Given the description of an element on the screen output the (x, y) to click on. 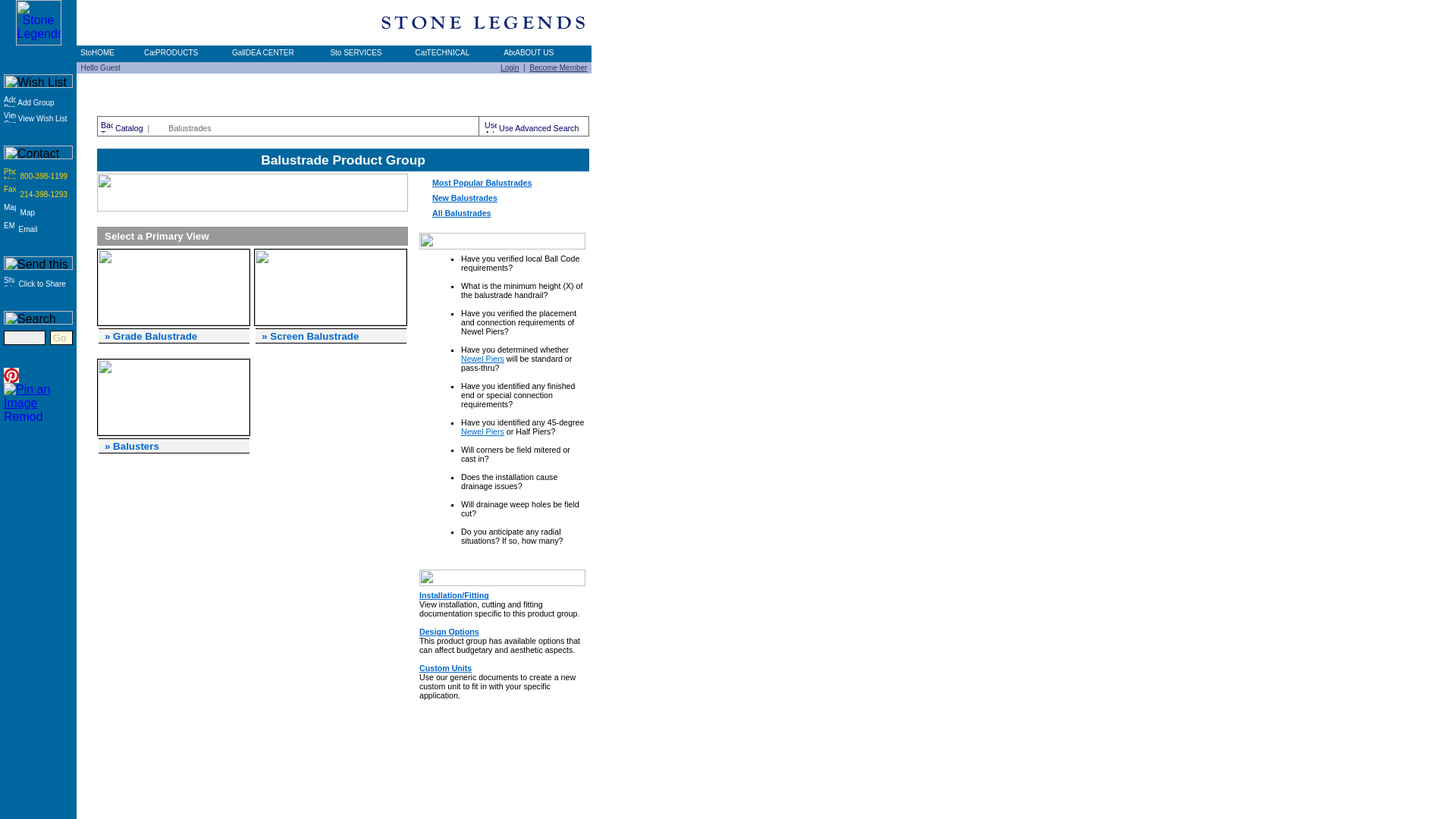
Most Popular Balustrades (481, 182)
All Balustrades (462, 212)
Go (60, 337)
IDEA CENTER (262, 52)
  Map (19, 212)
  Email (20, 229)
New Balustrades (464, 197)
Newel Piers (482, 358)
Use Advanced Search (531, 127)
Login (509, 67)
